Given the description of an element on the screen output the (x, y) to click on. 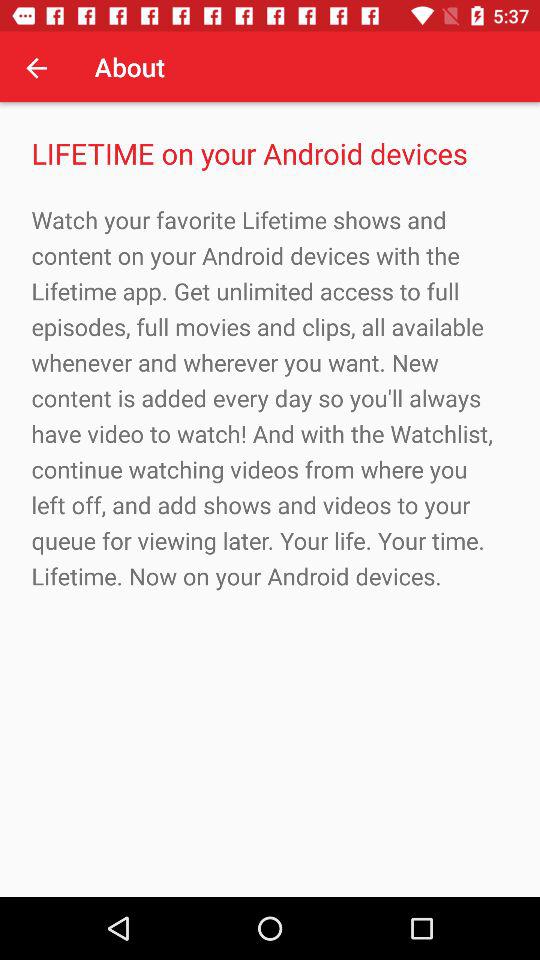
flip until watch your favorite icon (269, 398)
